Given the description of an element on the screen output the (x, y) to click on. 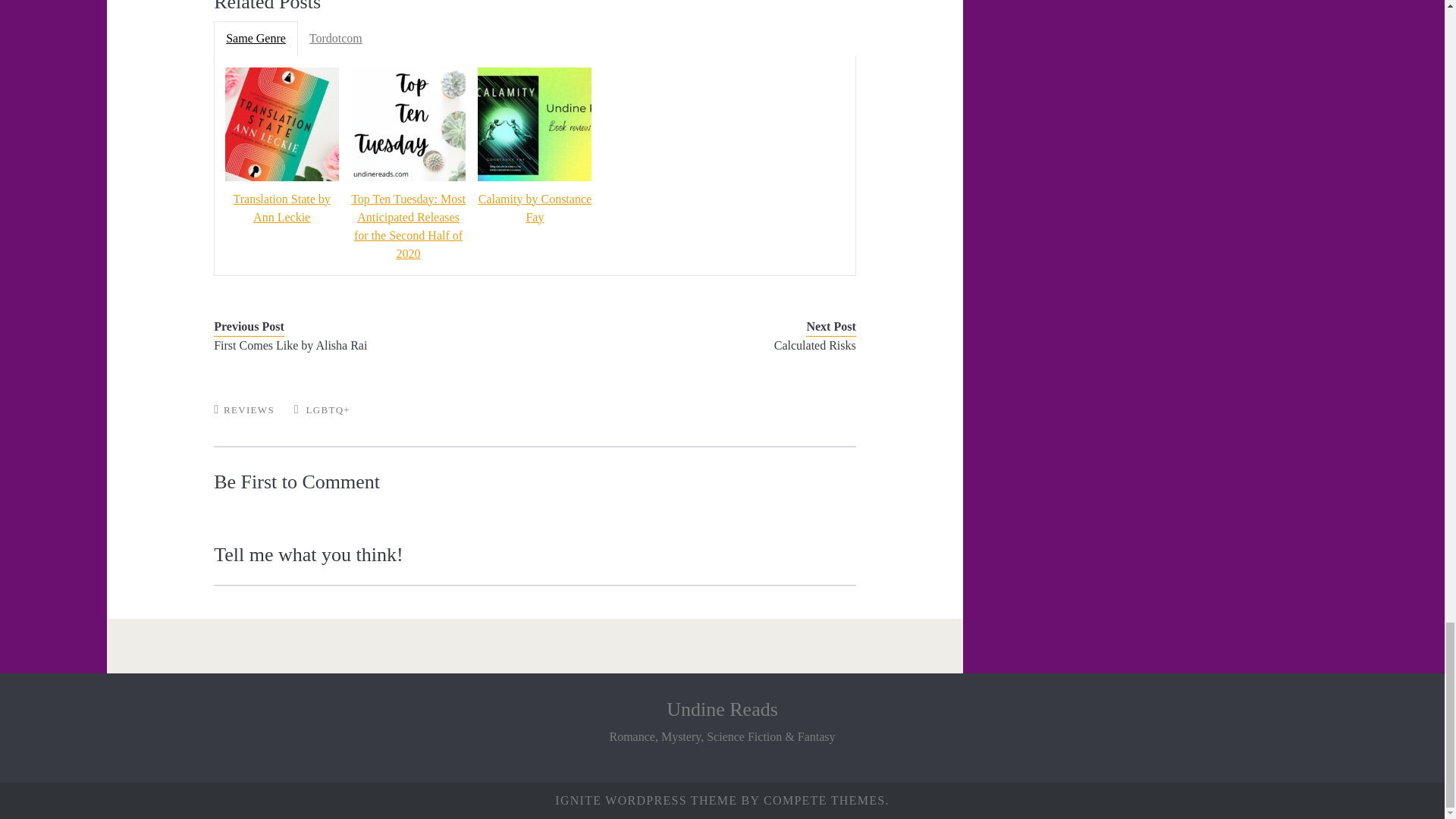
View all posts in Reviews (249, 409)
